Given the description of an element on the screen output the (x, y) to click on. 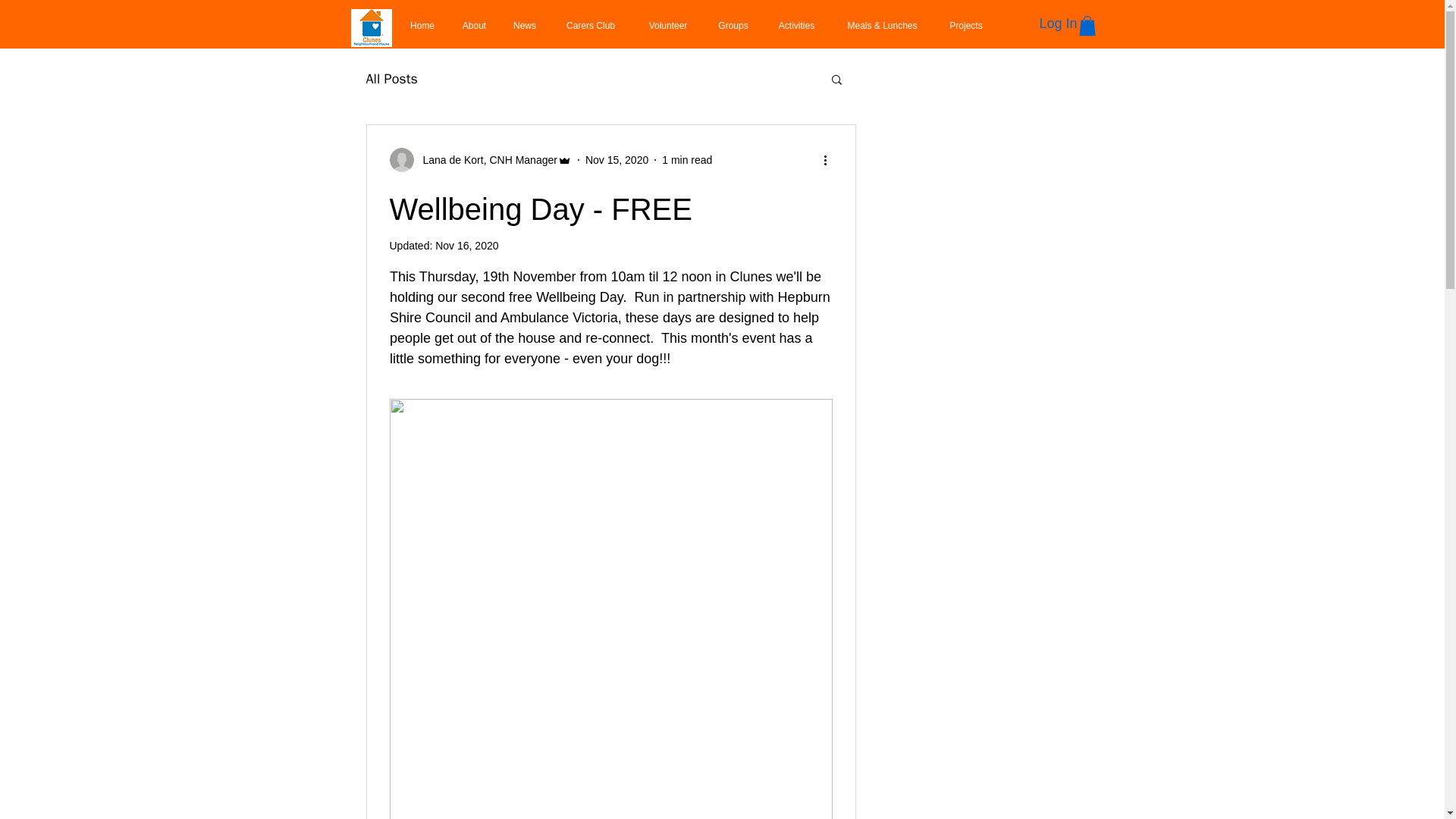
1 min read (686, 159)
Home (422, 26)
Activities (795, 26)
Log In (1057, 23)
News (524, 26)
Volunteer (667, 26)
Nov 16, 2020 (466, 245)
About (474, 26)
Carers Club (589, 26)
Lana de Kort, CNH Manager (481, 159)
